Given the description of an element on the screen output the (x, y) to click on. 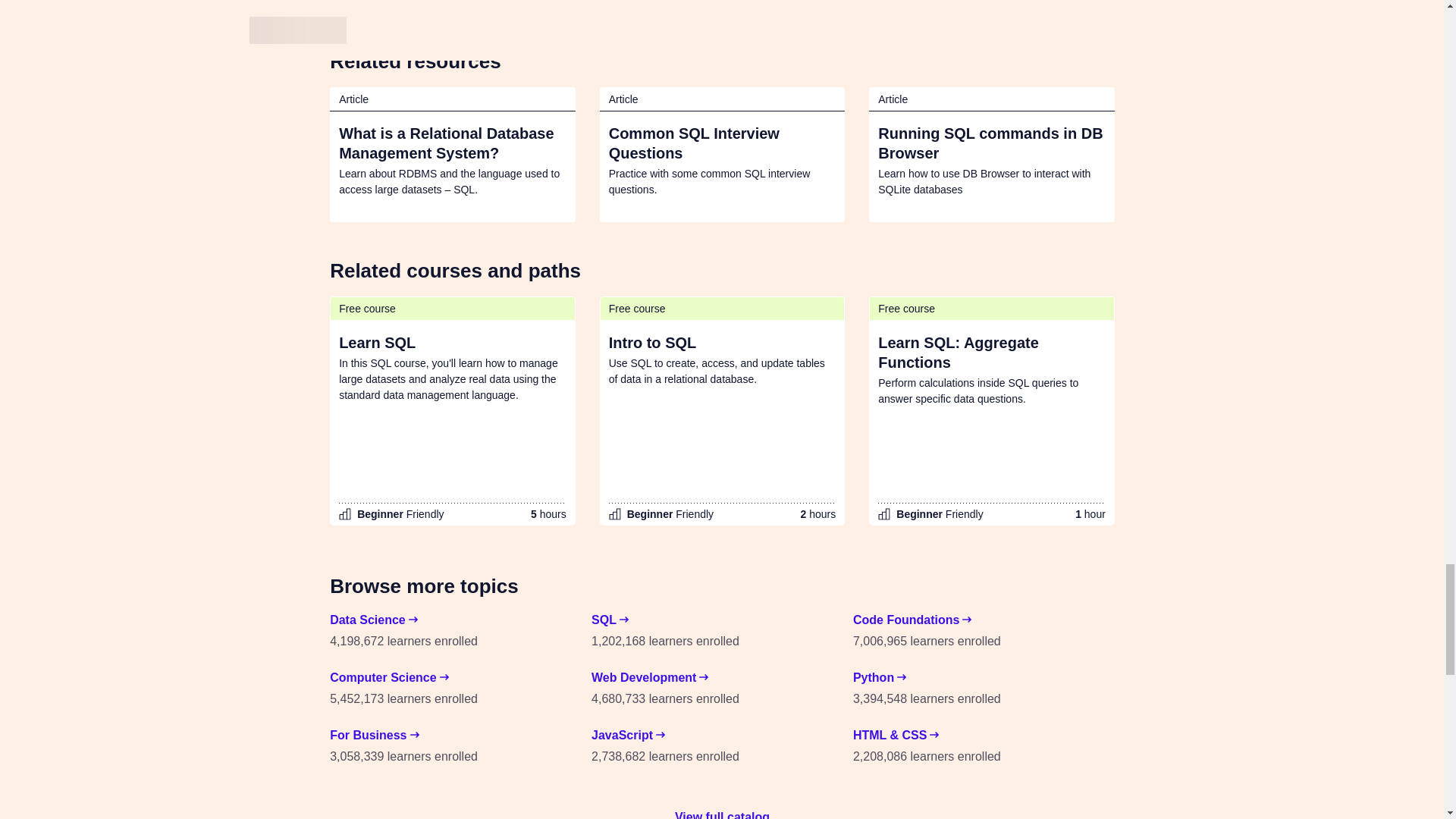
Data Science (373, 619)
JavaScript (628, 735)
For Business (374, 735)
View full catalog (721, 810)
Computer Science (389, 678)
